Given the description of an element on the screen output the (x, y) to click on. 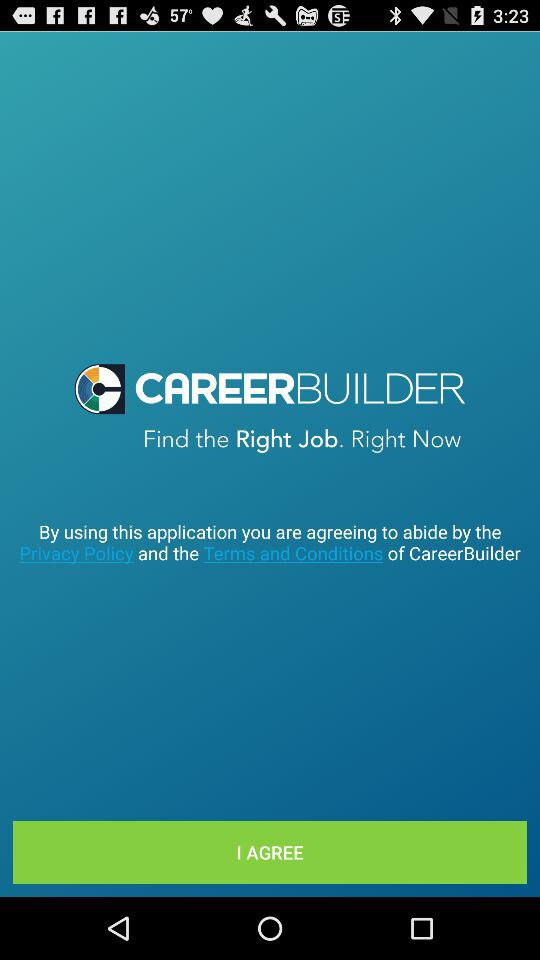
choose the i agree at the bottom (269, 851)
